Given the description of an element on the screen output the (x, y) to click on. 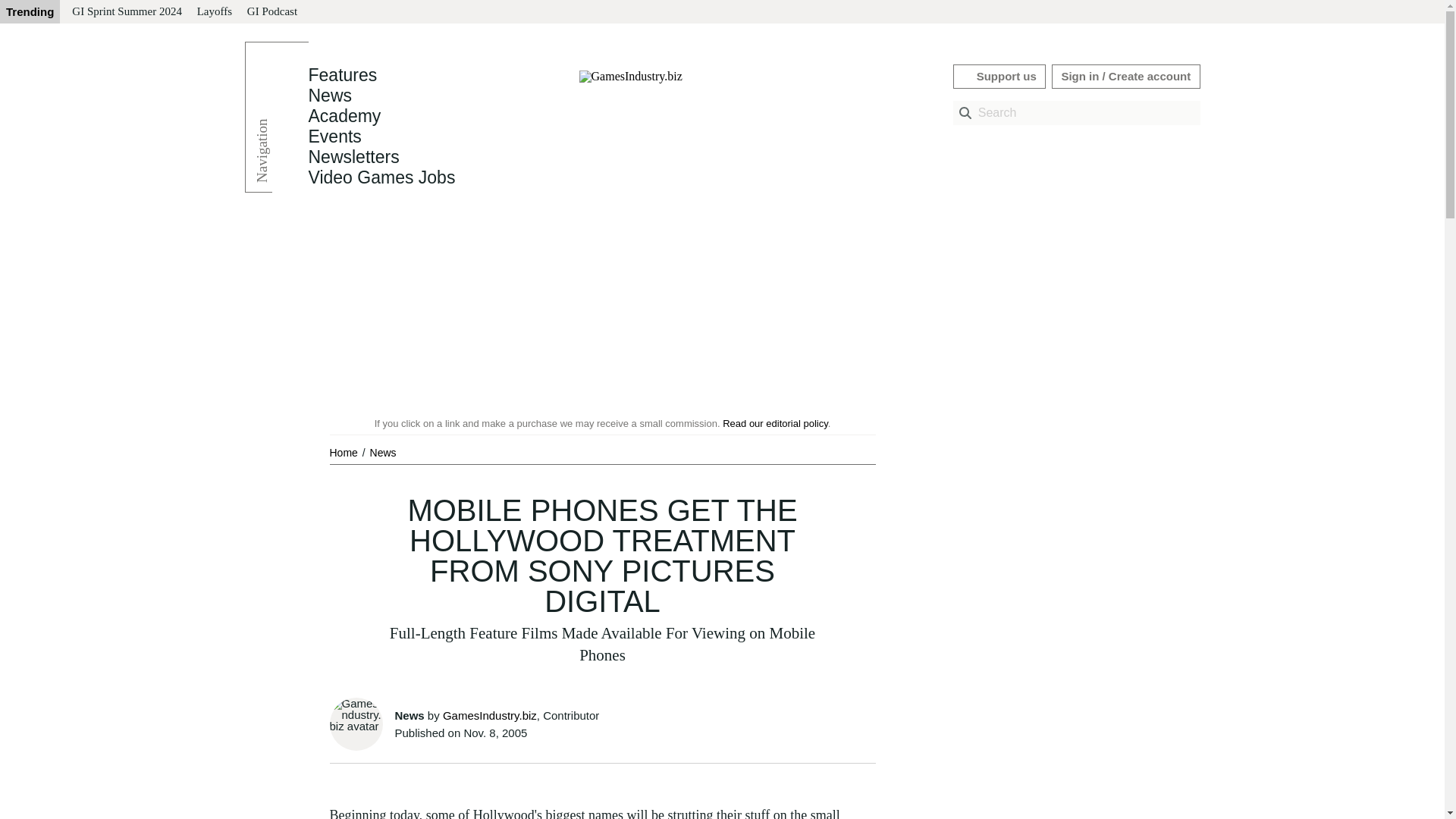
Home (344, 452)
GI Podcast (271, 11)
News (382, 452)
Support us (999, 75)
Layoffs (214, 11)
News (329, 95)
Academy (343, 116)
Newsletters (352, 157)
News (382, 452)
Features (342, 75)
News (329, 95)
GamesIndustry.biz (489, 715)
GI Sprint Summer 2024 (126, 11)
Events (334, 136)
Academy (343, 116)
